Given the description of an element on the screen output the (x, y) to click on. 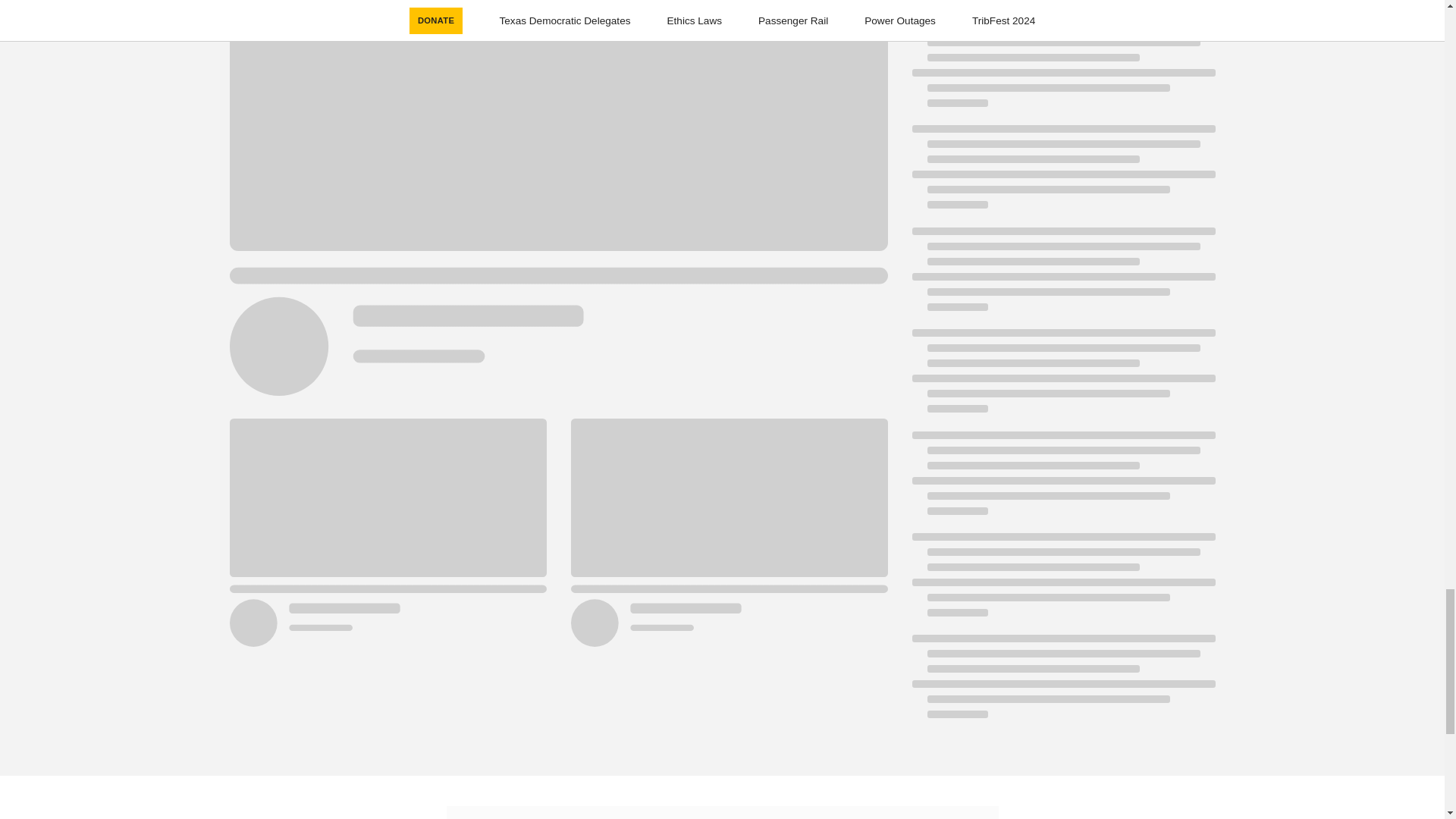
Loading indicator (1062, 276)
Loading indicator (1062, 72)
Loading indicator (1062, 582)
Loading indicator (1062, 378)
Loading indicator (1062, 683)
Loading indicator (1062, 174)
Loading indicator (1062, 10)
Loading indicator (1062, 480)
